Given the description of an element on the screen output the (x, y) to click on. 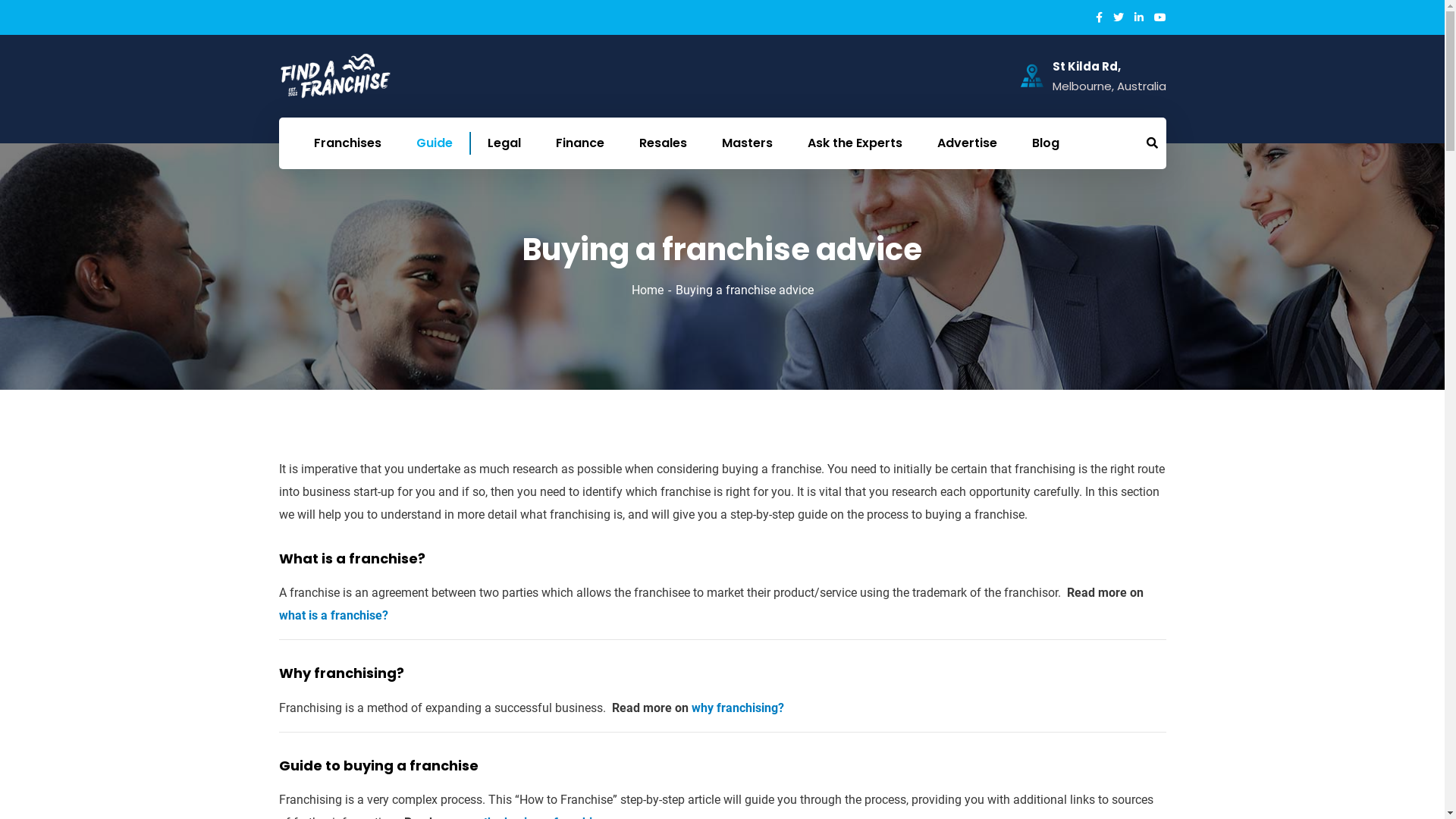
Home Element type: text (652, 289)
About Us Element type: text (910, 632)
Blog Element type: text (1045, 143)
Masters Element type: text (746, 143)
Ask the Experts Element type: text (854, 143)
Guide Element type: text (434, 143)
Advertising Element type: text (918, 657)
Advertise Element type: text (966, 143)
why franchising? Element type: text (737, 707)
Resales Element type: text (662, 143)
Finance Element type: text (579, 143)
enquiry@whichfranchise.net.au Element type: text (360, 625)
what is a franchise? Element type: text (333, 615)
Terms&Conditions Element type: text (939, 608)
Find A Franchise Element type: hover (335, 75)
Legal Element type: text (504, 143)
Franchises Element type: text (346, 143)
Next Element type: text (859, 632)
whichfranchise.net.au Element type: text (367, 674)
Previous Element type: text (583, 632)
